Given the description of an element on the screen output the (x, y) to click on. 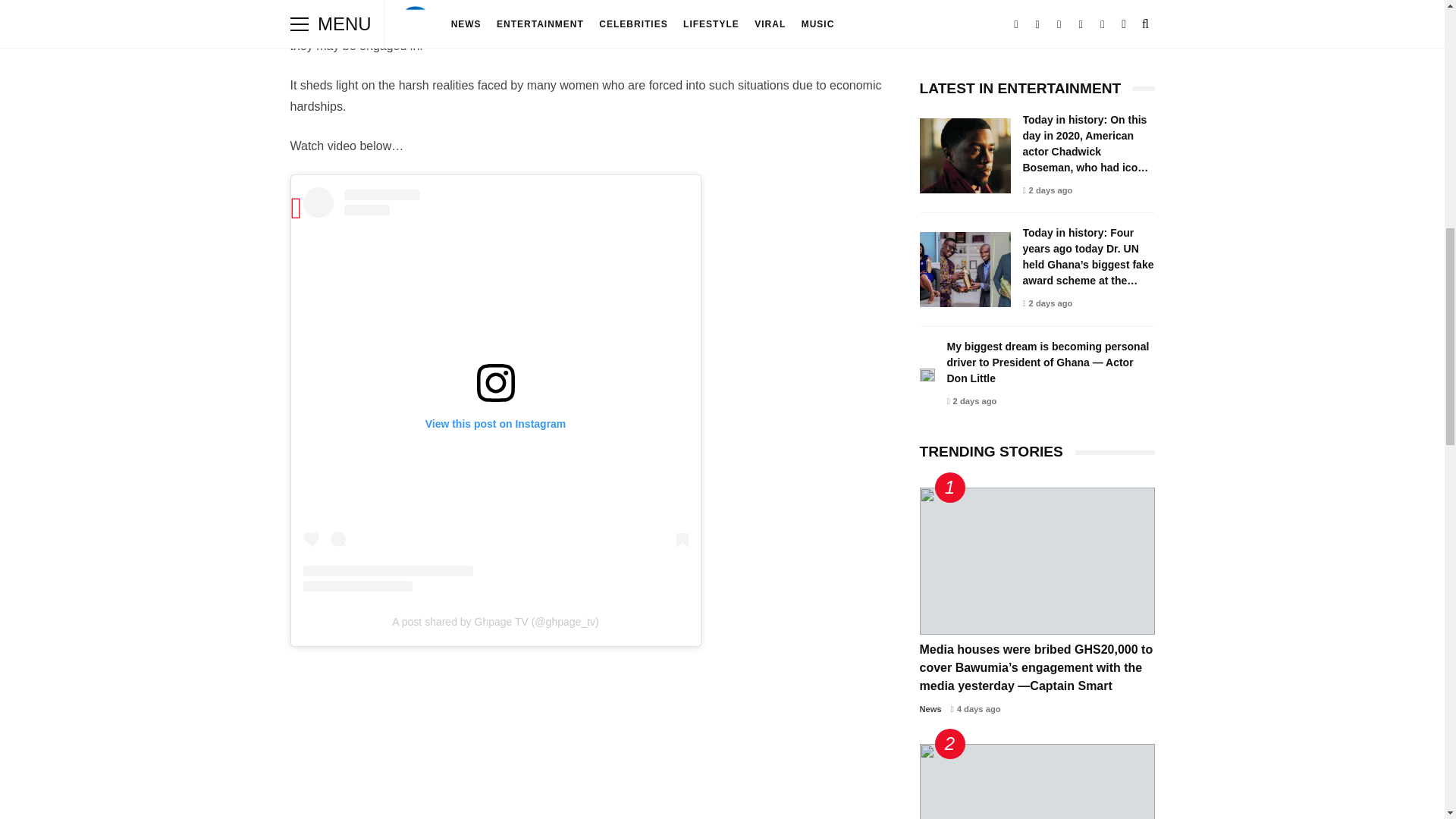
Subscribe (1036, 13)
Subscribe (1036, 13)
Scroll To Top (1422, 20)
